Given the description of an element on the screen output the (x, y) to click on. 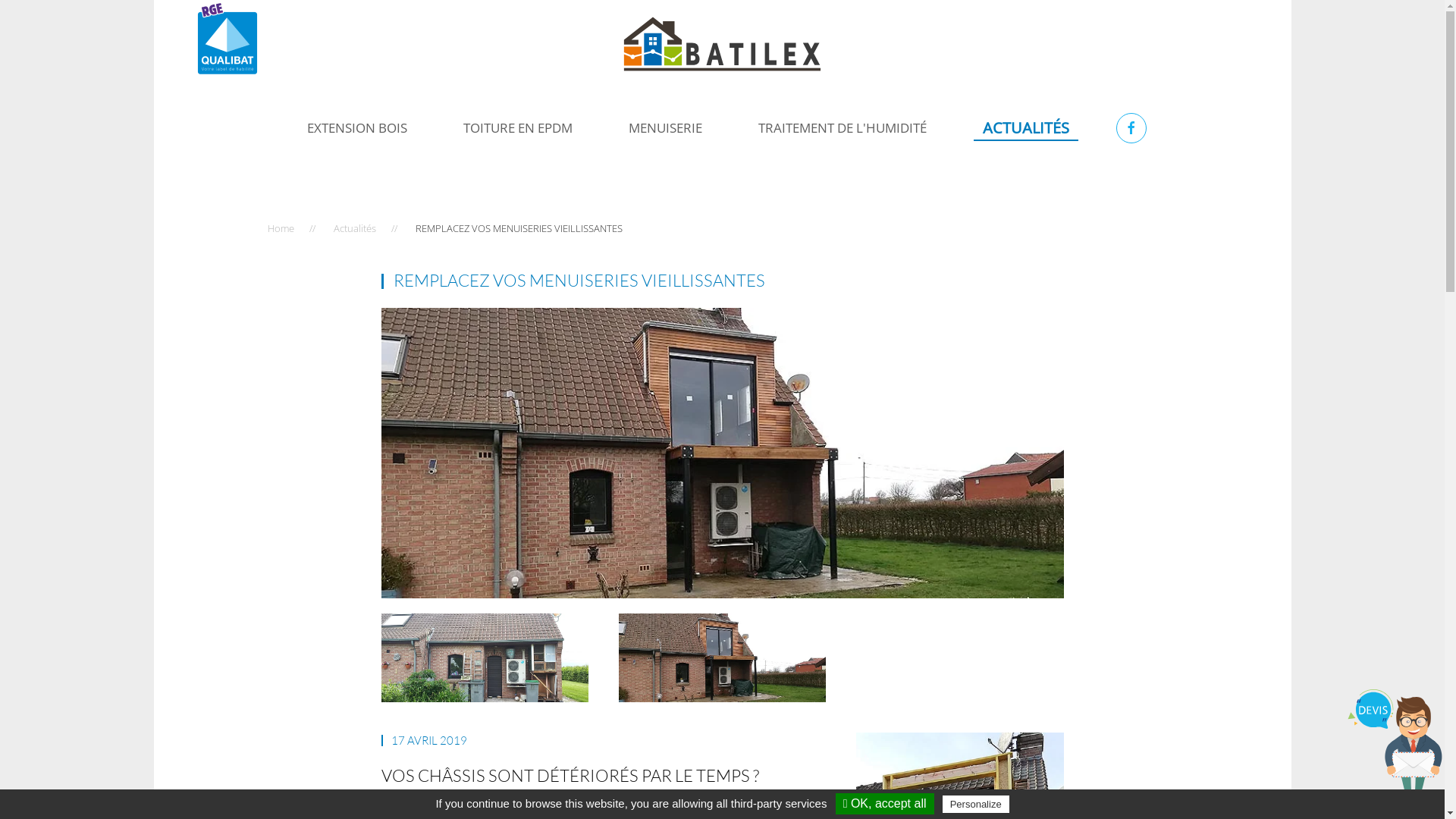
Home Element type: text (279, 228)
EXTENSION BOIS Element type: text (357, 127)
Cliquer pour nous contacter par e-mail Element type: hover (1395, 745)
MENUISERIE Element type: text (665, 127)
Personalize Element type: text (975, 803)
TOITURE EN EPDM Element type: text (517, 127)
